Given the description of an element on the screen output the (x, y) to click on. 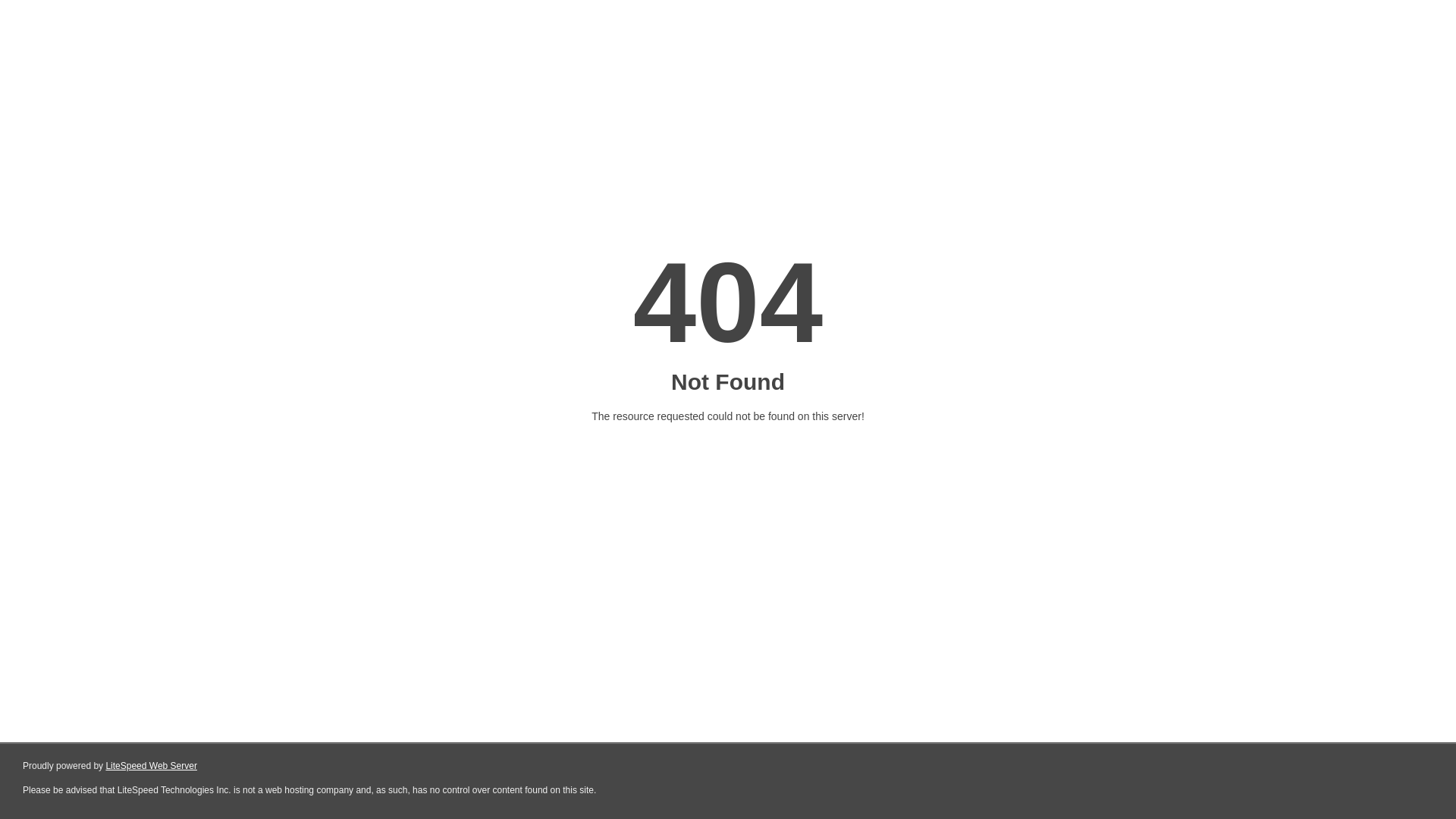
LiteSpeed Web Server Element type: text (151, 765)
